Given the description of an element on the screen output the (x, y) to click on. 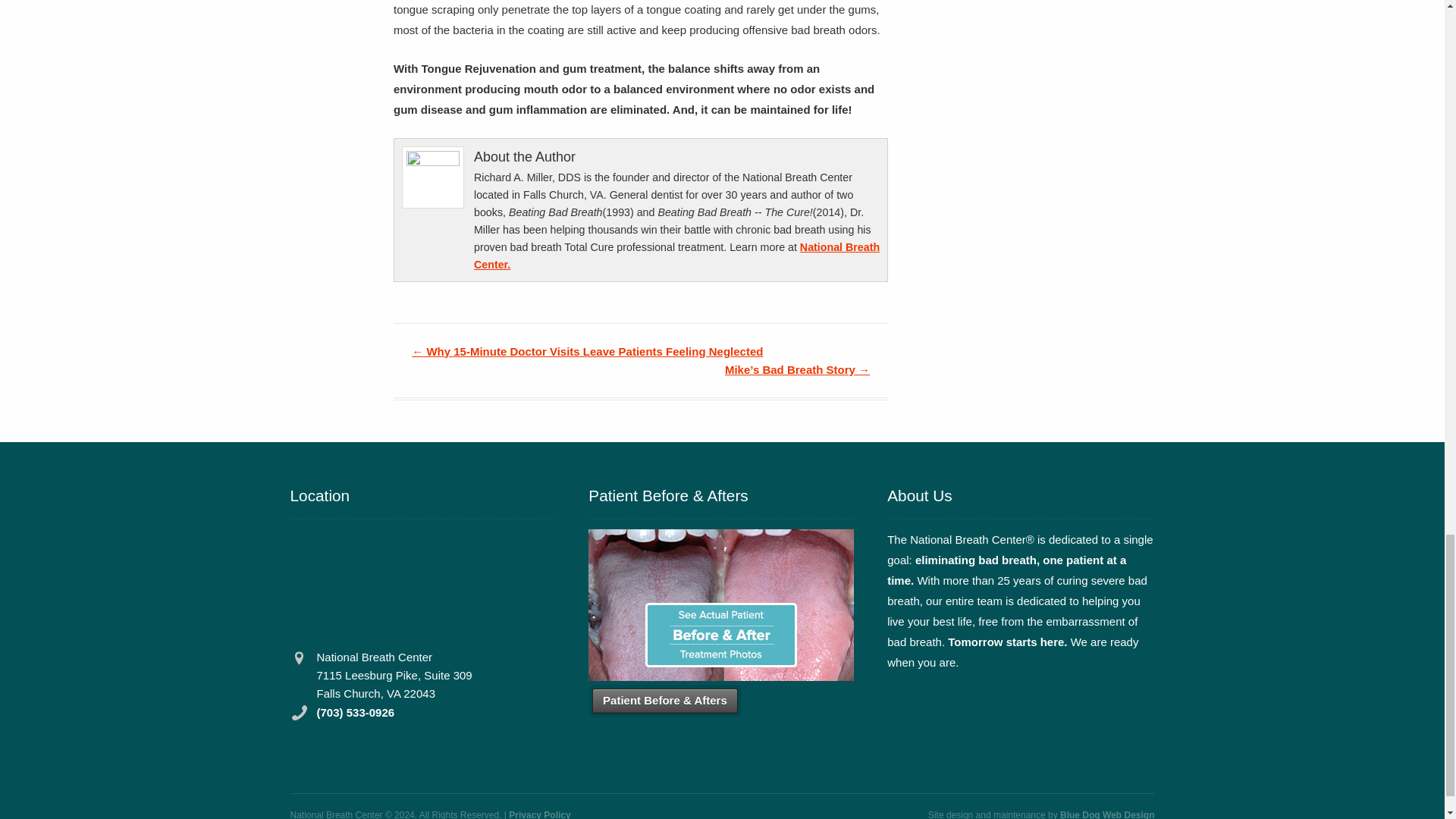
National Breath Center (676, 255)
privacy policy (539, 814)
